Given the description of an element on the screen output the (x, y) to click on. 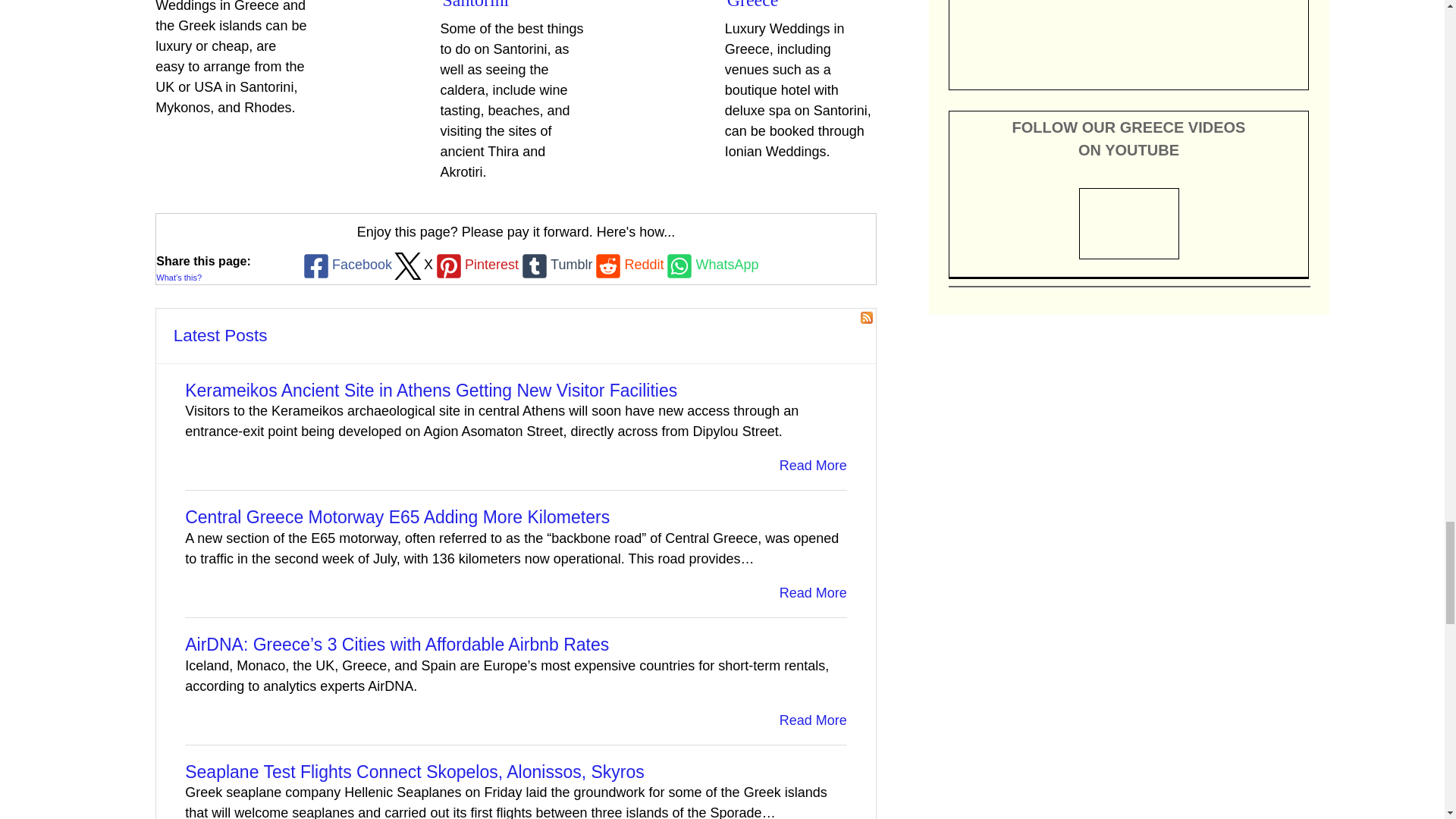
greece-travel-journal-front-cover.jpg (1128, 36)
